Given the description of an element on the screen output the (x, y) to click on. 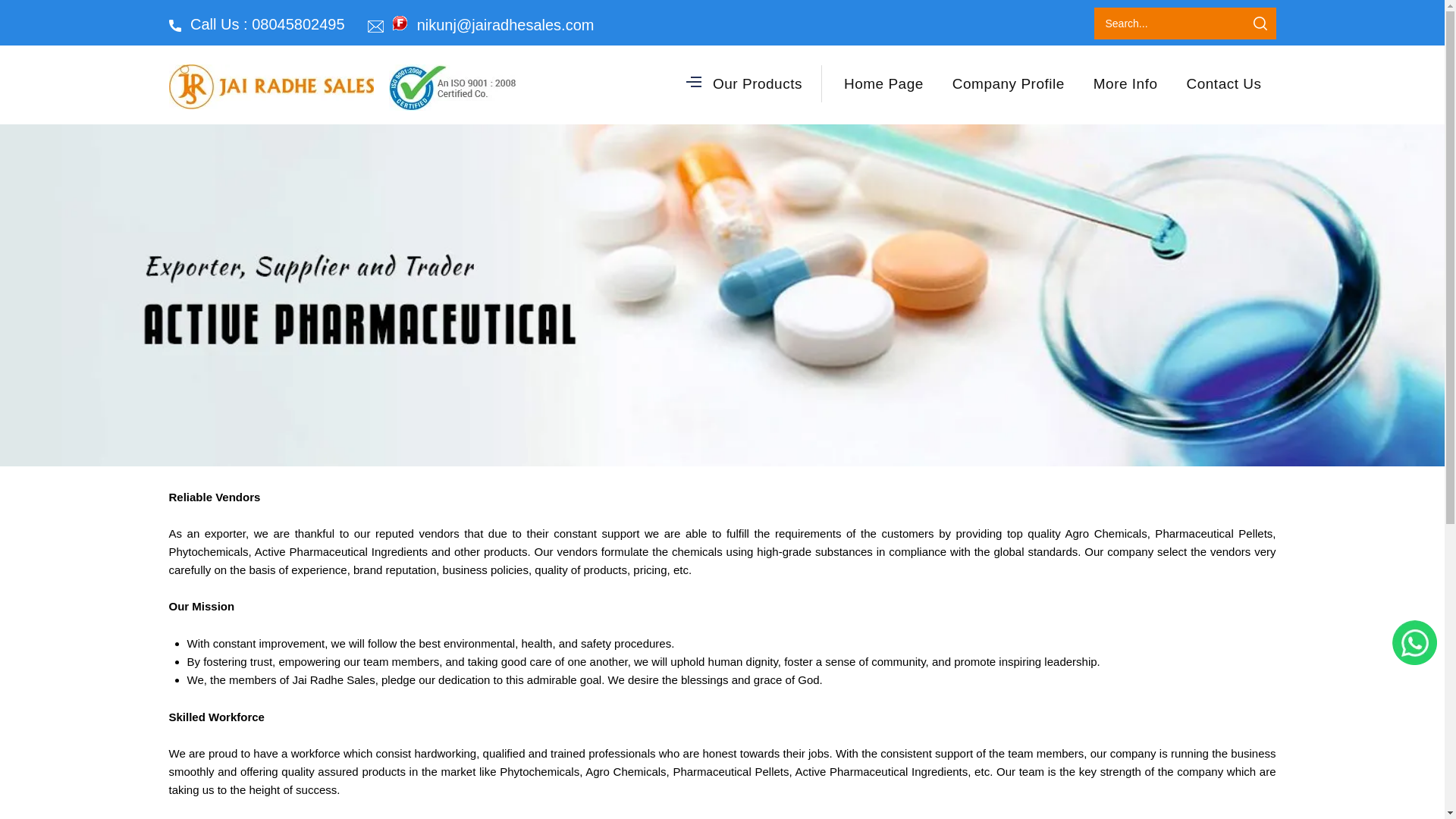
Accepts only Export Inquiries (400, 22)
Jai Radhe Sales (270, 86)
Search... (1157, 23)
Our Products (746, 83)
submit (1259, 23)
submit (1259, 23)
Jai Radhe Sales (452, 87)
